Given the description of an element on the screen output the (x, y) to click on. 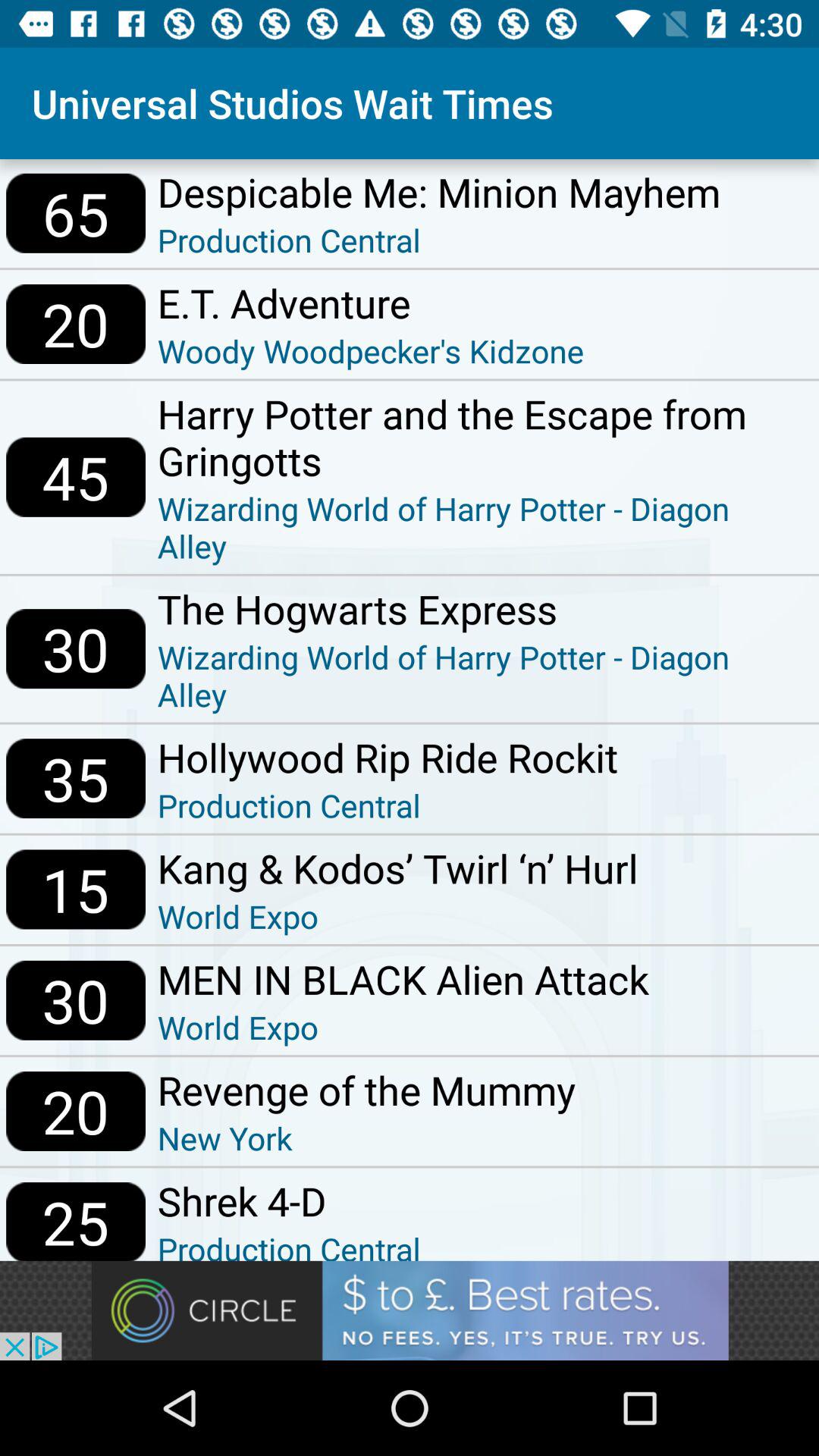
click icon above the woody woodpecker s icon (370, 302)
